Given the description of an element on the screen output the (x, y) to click on. 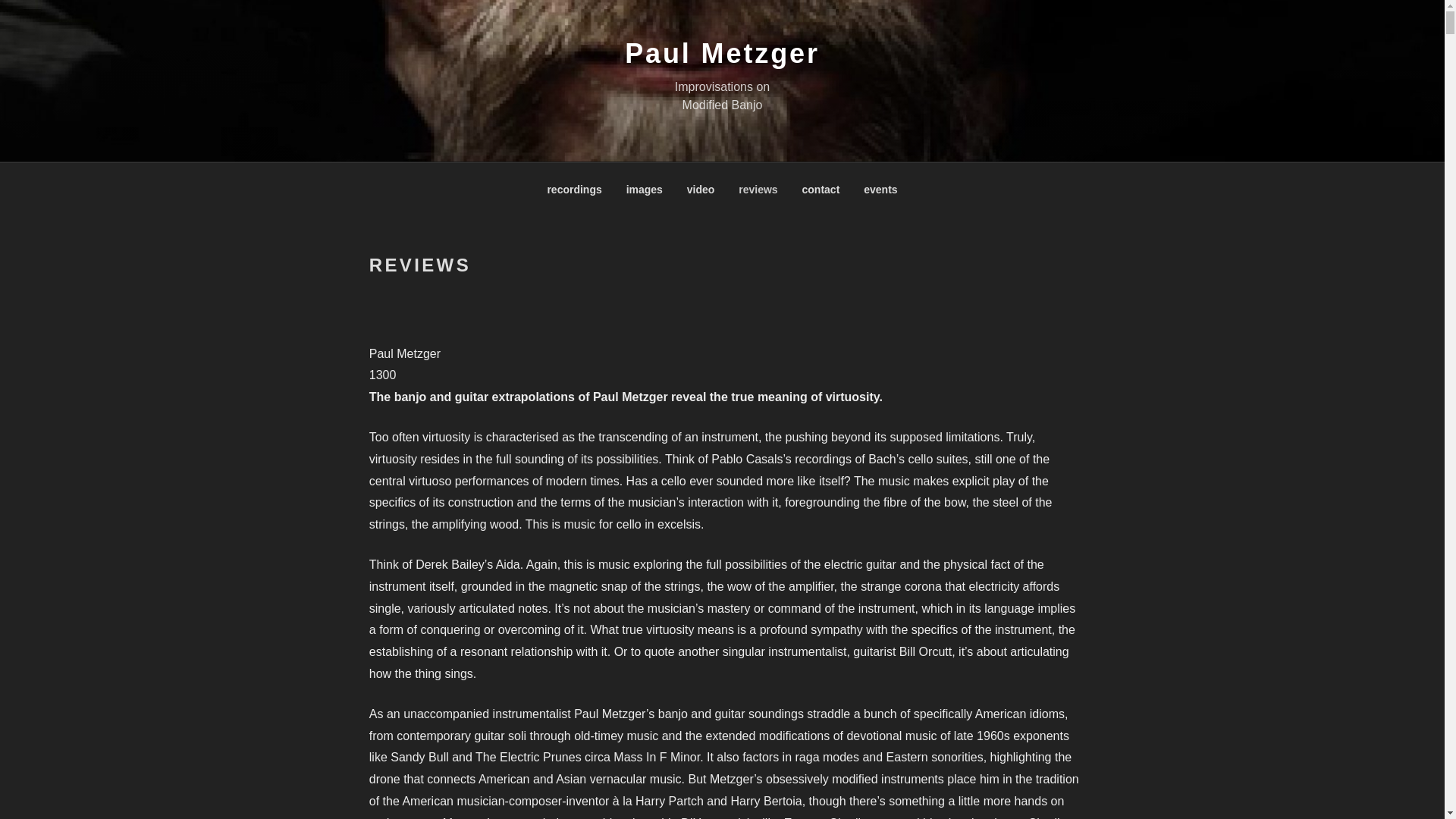
Paul Metzger (721, 52)
events (880, 189)
video (701, 189)
reviews (757, 189)
recordings (573, 189)
contact (821, 189)
images (643, 189)
